Given the description of an element on the screen output the (x, y) to click on. 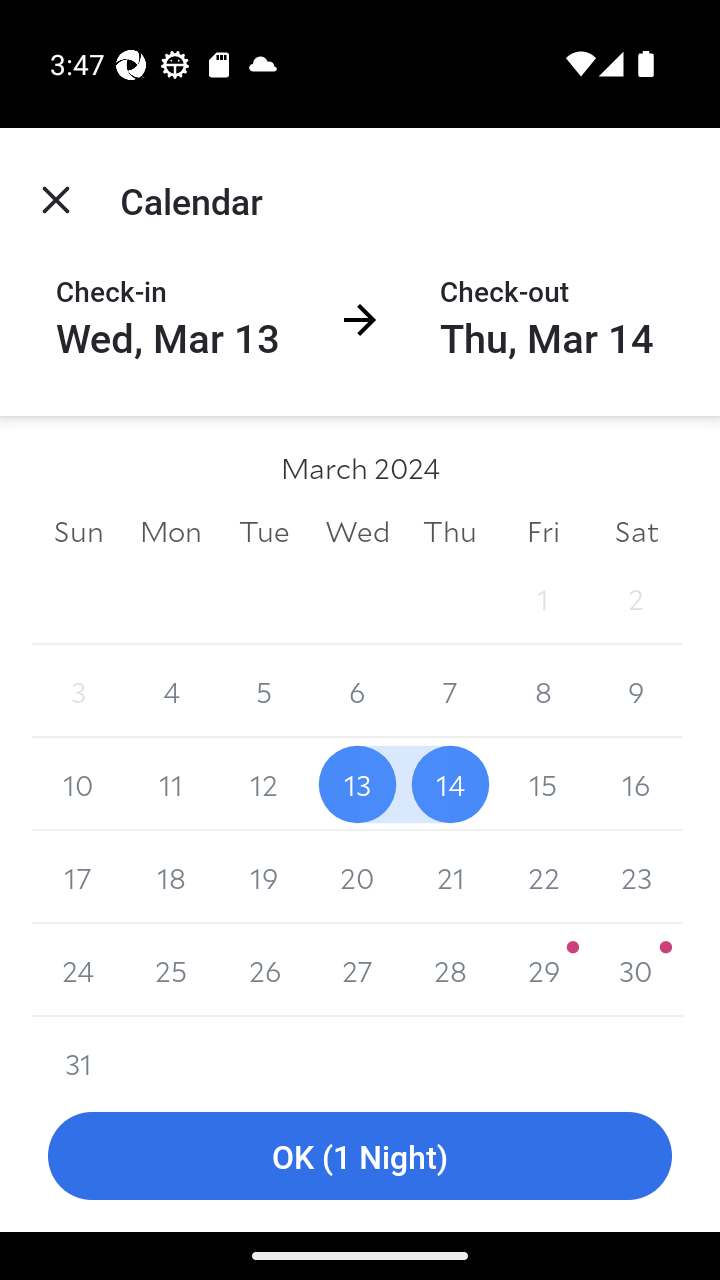
Sun (78, 530)
Mon (171, 530)
Tue (264, 530)
Wed (357, 530)
Thu (449, 530)
Fri (542, 530)
Sat (636, 530)
1 1 March 2024 (542, 598)
2 2 March 2024 (636, 598)
3 3 March 2024 (78, 691)
4 4 March 2024 (171, 691)
5 5 March 2024 (264, 691)
6 6 March 2024 (357, 691)
7 7 March 2024 (449, 691)
8 8 March 2024 (542, 691)
9 9 March 2024 (636, 691)
10 10 March 2024 (78, 784)
11 11 March 2024 (171, 784)
12 12 March 2024 (264, 784)
13 13 March 2024 (357, 784)
14 14 March 2024 (449, 784)
15 15 March 2024 (542, 784)
16 16 March 2024 (636, 784)
17 17 March 2024 (78, 877)
18 18 March 2024 (171, 877)
19 19 March 2024 (264, 877)
20 20 March 2024 (357, 877)
21 21 March 2024 (449, 877)
22 22 March 2024 (542, 877)
23 23 March 2024 (636, 877)
24 24 March 2024 (78, 970)
25 25 March 2024 (171, 970)
26 26 March 2024 (264, 970)
27 27 March 2024 (357, 970)
28 28 March 2024 (449, 970)
29 29 March 2024 (542, 970)
30 30 March 2024 (636, 970)
31 31 March 2024 (78, 1048)
OK (1 Night) (359, 1156)
